Given the description of an element on the screen output the (x, y) to click on. 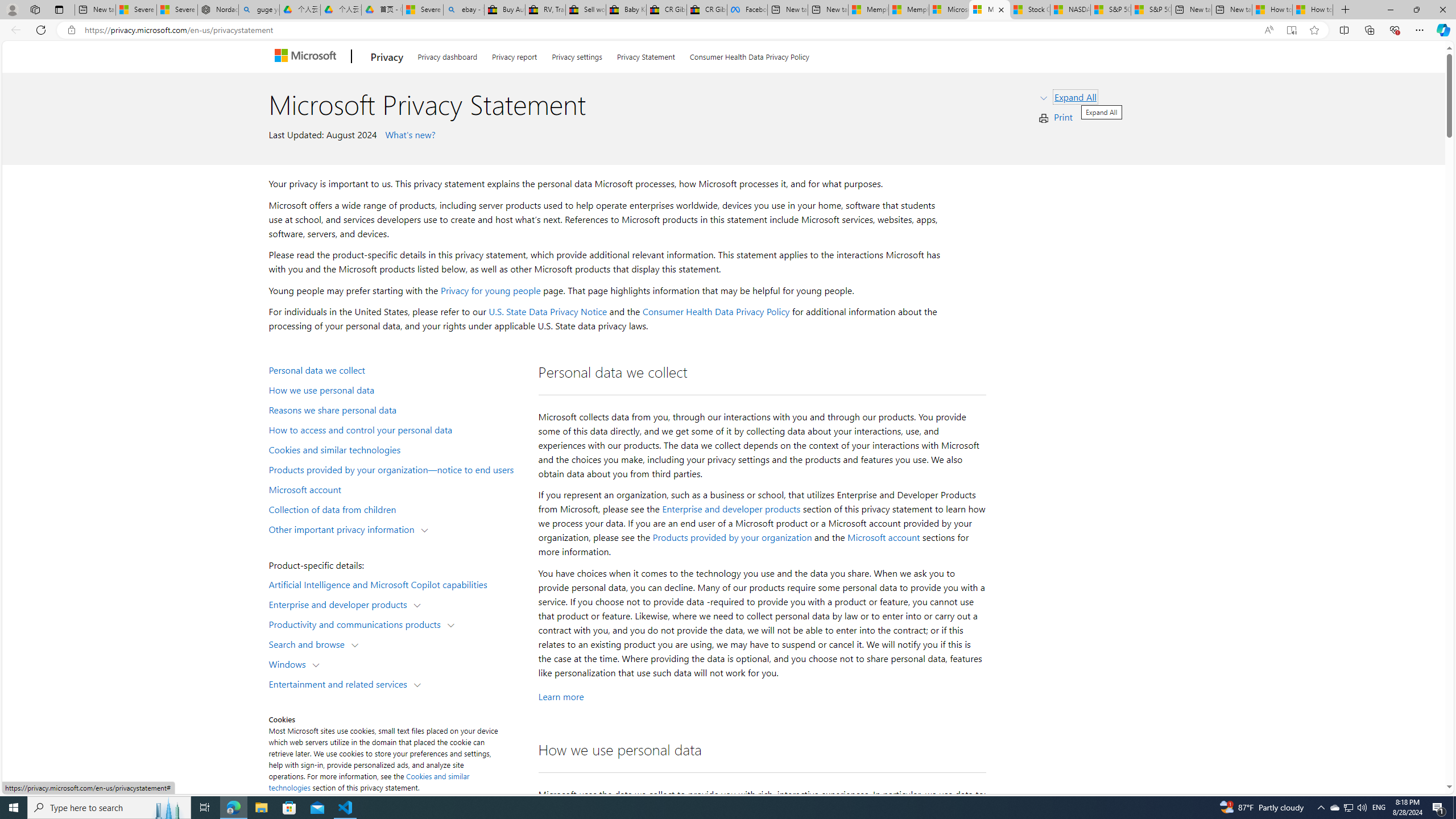
Search and browse (308, 643)
Enterprise and developer products (731, 508)
Cookies and similar technologies (395, 449)
U.S. State Data Privacy Notice (548, 311)
Privacy Statement (645, 54)
Print (1063, 116)
